Given the description of an element on the screen output the (x, y) to click on. 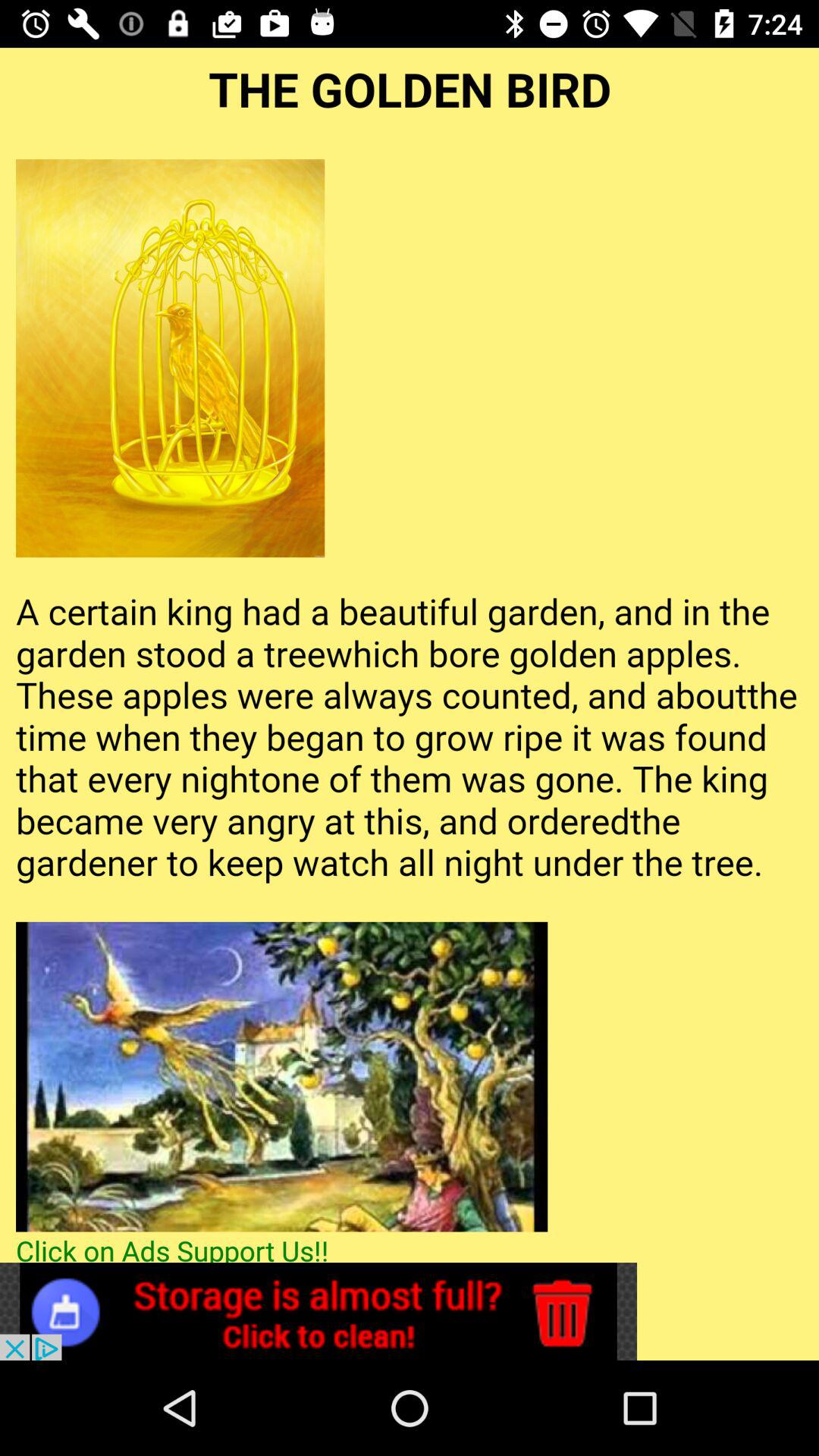
go to advertisement website (318, 1311)
